Given the description of an element on the screen output the (x, y) to click on. 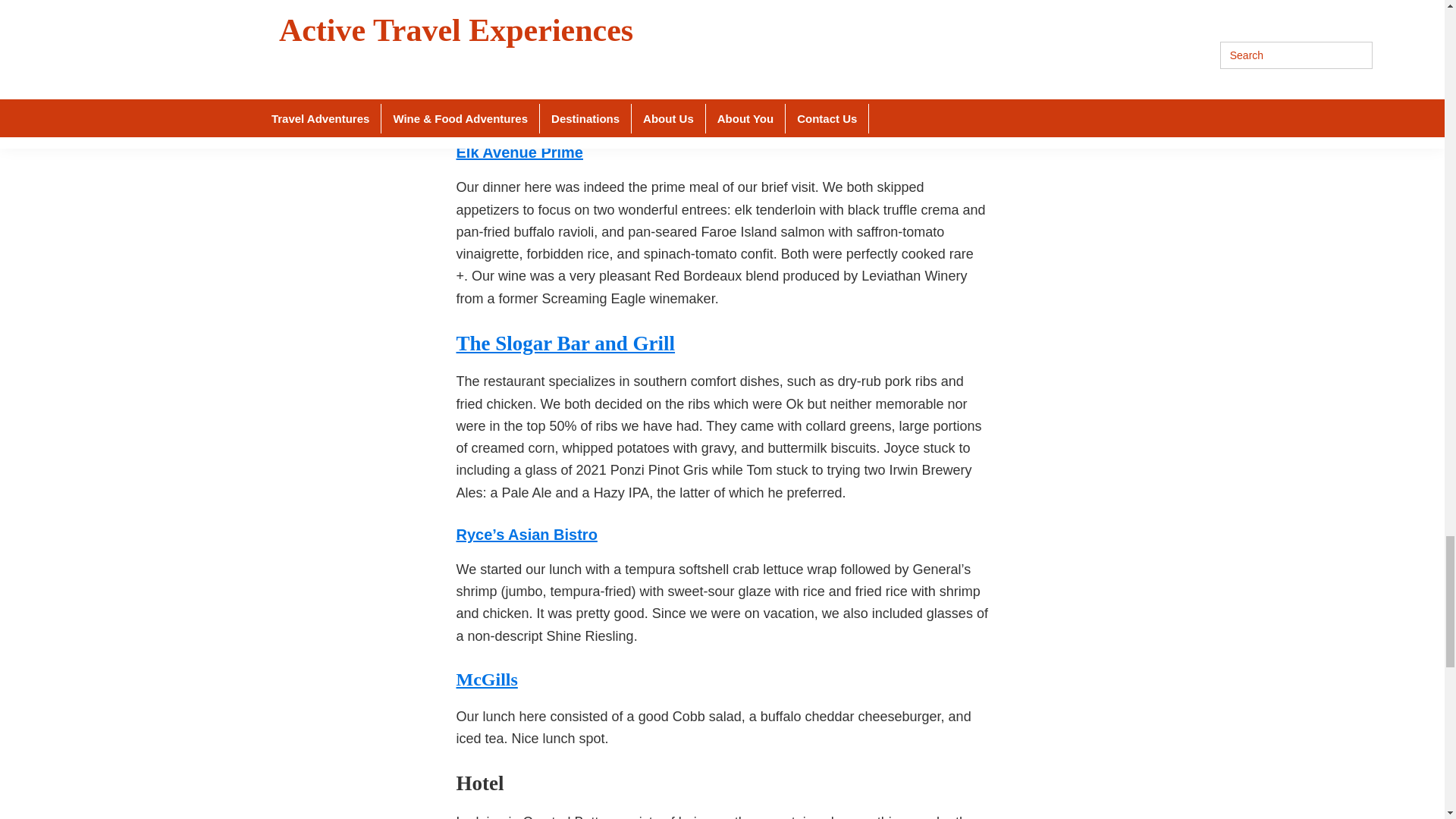
The Slogar Bar and Grill (566, 343)
Elk Avenue Prime (520, 152)
Elk Avenue Prime (520, 152)
McGills (487, 679)
